Given the description of an element on the screen output the (x, y) to click on. 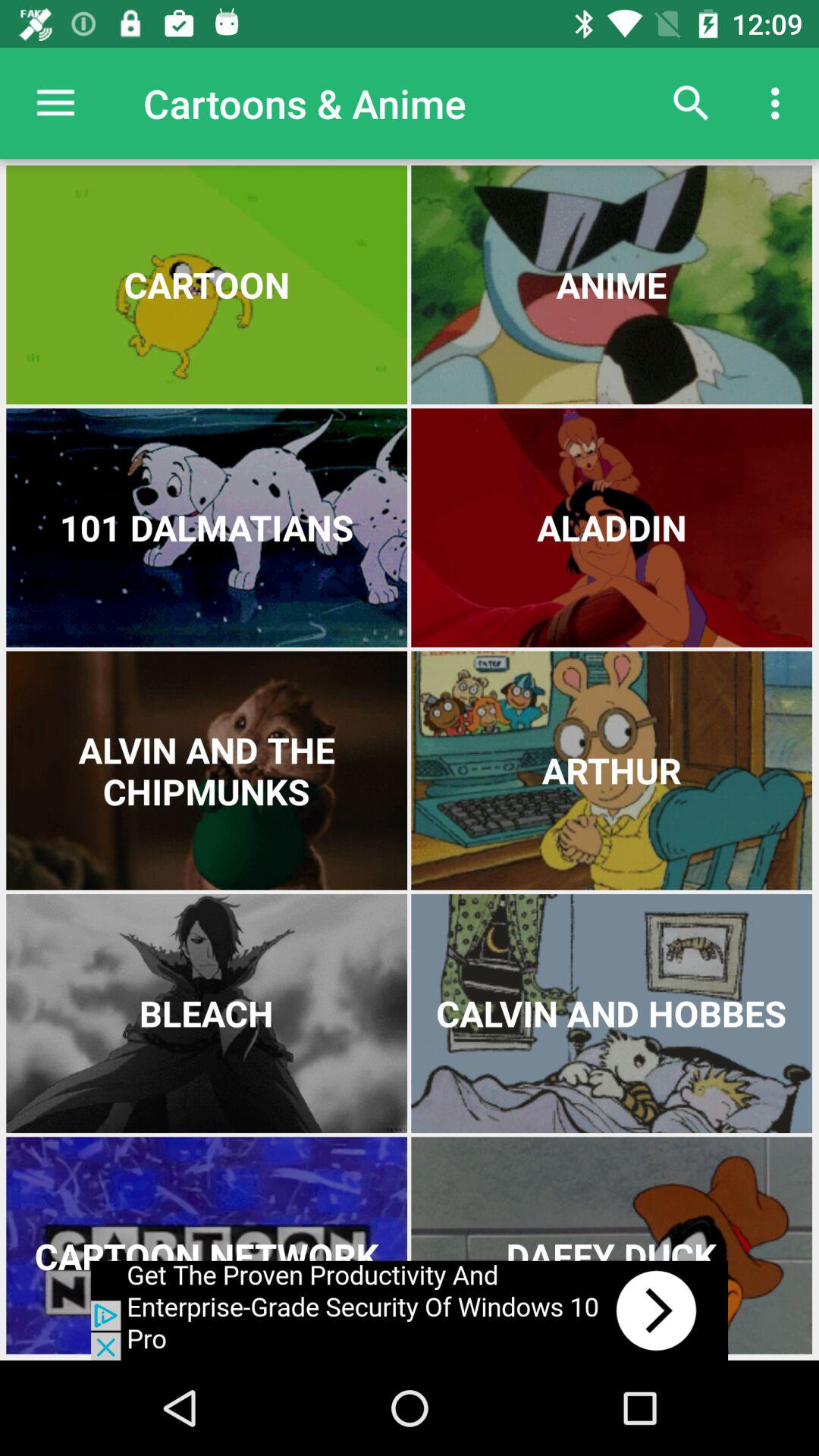
view this advertisement (409, 1310)
